Given the description of an element on the screen output the (x, y) to click on. 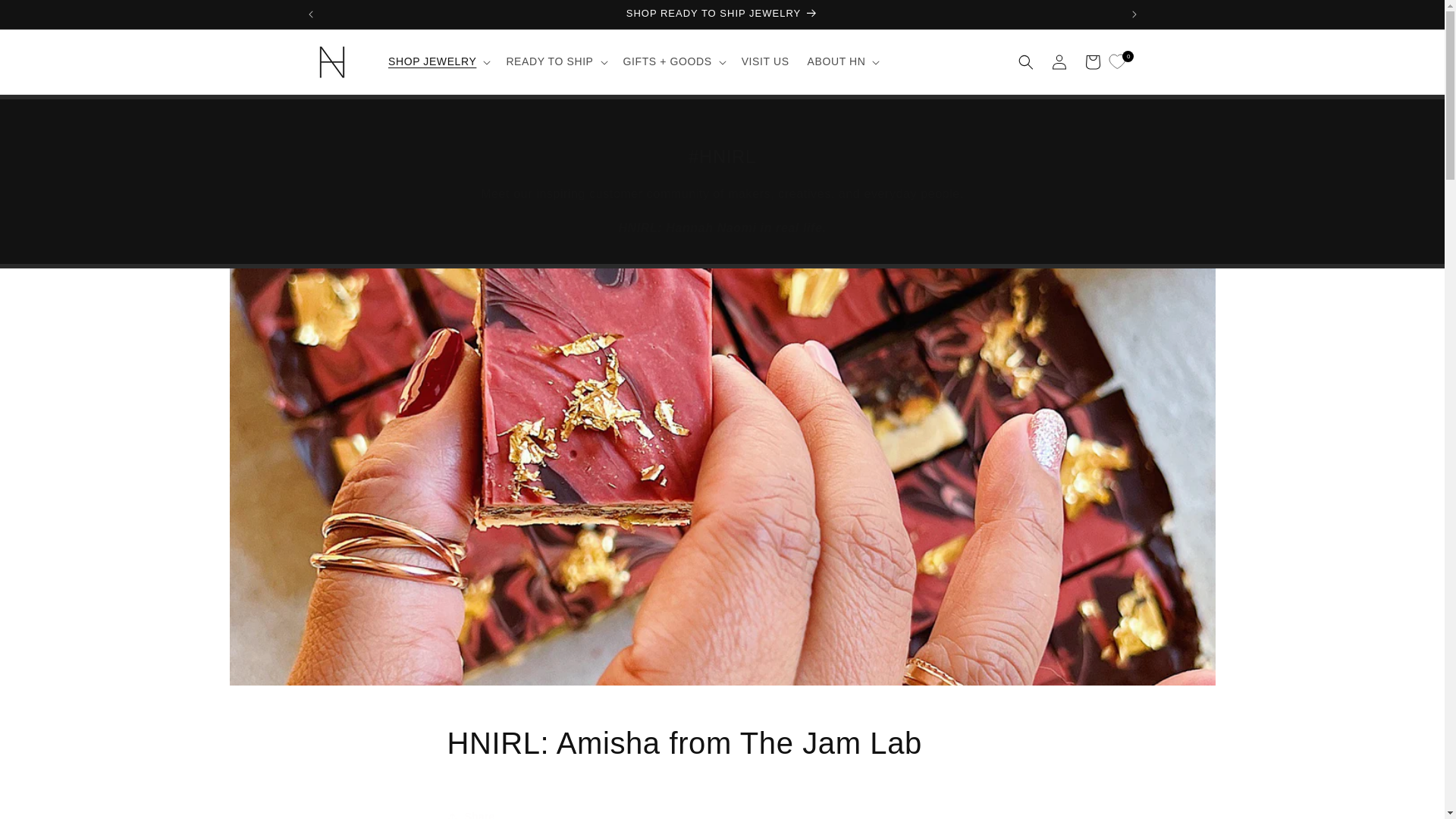
Skip to content (45, 17)
SHOP READY TO SHIP JEWELRY (722, 14)
HNIRL: Amisha from The Jam Lab (721, 742)
Share (721, 809)
